Given the description of an element on the screen output the (x, y) to click on. 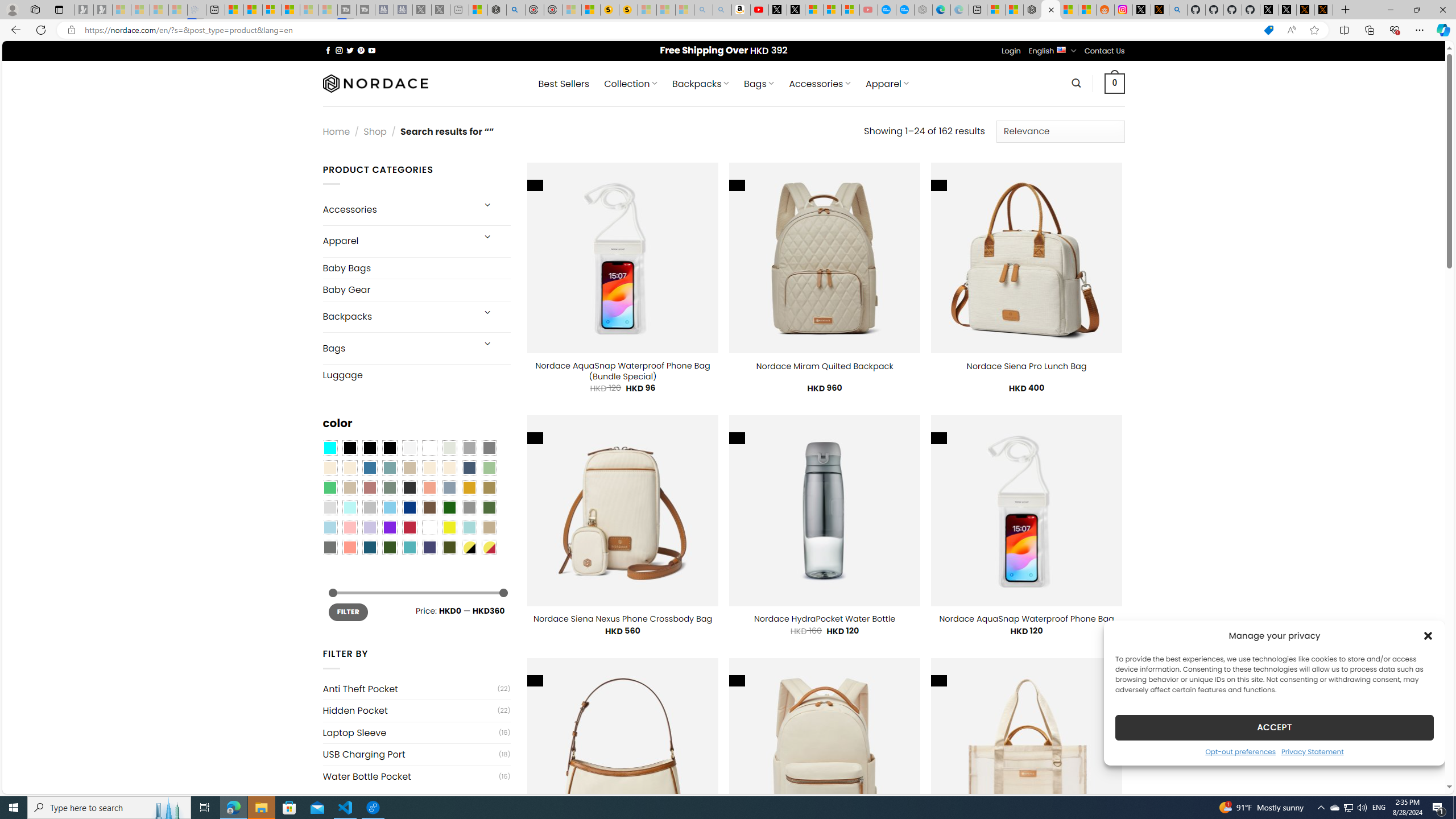
Microsoft account | Microsoft Account Privacy Settings (996, 9)
Log in to X / X (1142, 9)
Login (1010, 50)
Hale Navy (468, 467)
Baby Bags (416, 267)
White (429, 527)
Wildlife - MSN (478, 9)
Nordace - Best Sellers (1032, 9)
Green (488, 507)
Pearly White (408, 447)
Tab actions menu (58, 9)
Follow on YouTube (371, 49)
Workspaces (34, 9)
